Given the description of an element on the screen output the (x, y) to click on. 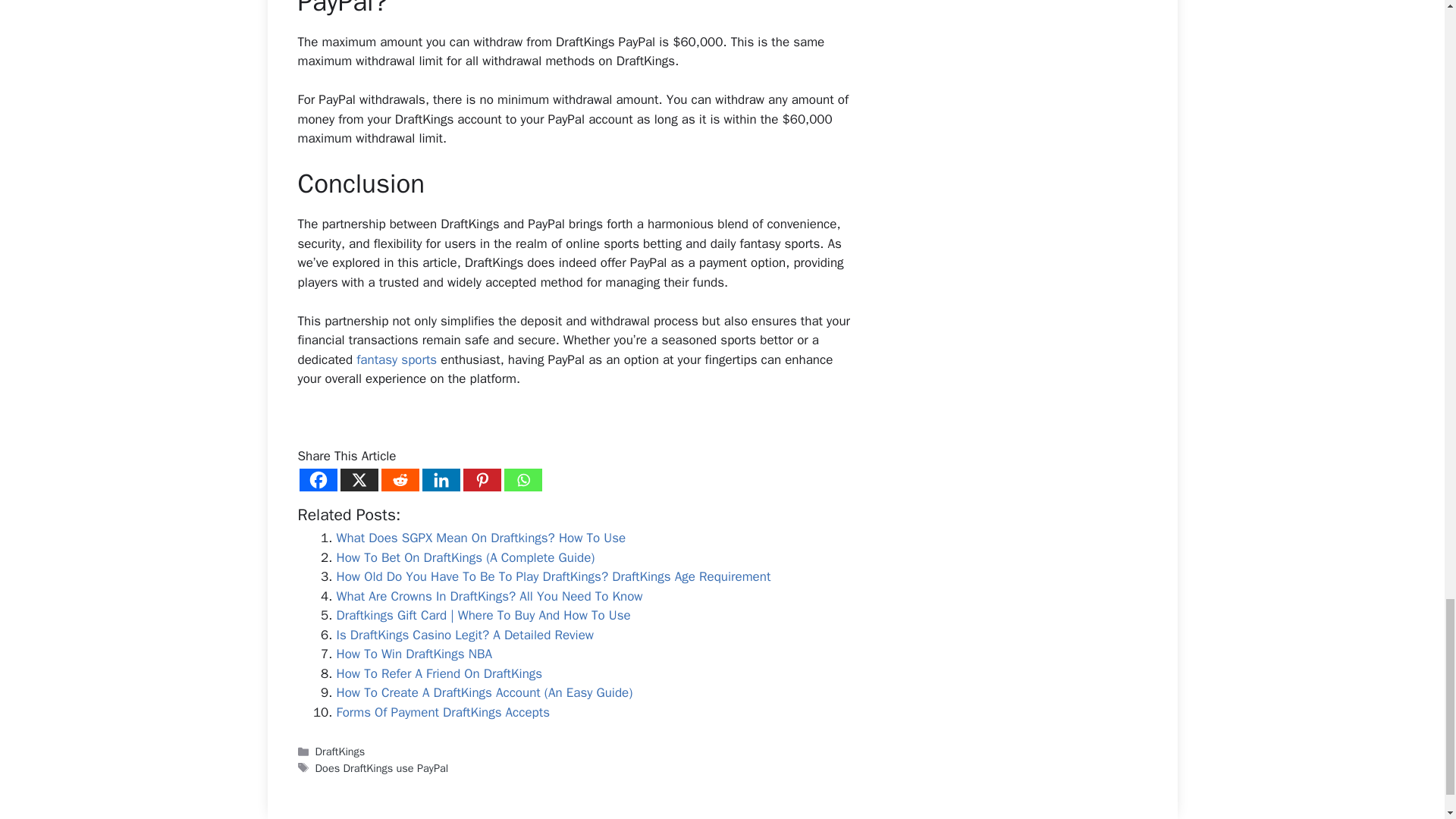
DraftKings (340, 751)
What Are Crowns In DraftKings? All You Need To Know (489, 596)
Is DraftKings Casino Legit? A Detailed Review (465, 634)
Linkedin (441, 479)
What Does SGPX Mean On Draftkings? How To Use (481, 537)
Is DraftKings Casino Legit? A Detailed Review (465, 634)
Does DraftKings use PayPal (381, 767)
Whatsapp (522, 479)
Facebook (317, 479)
